Given the description of an element on the screen output the (x, y) to click on. 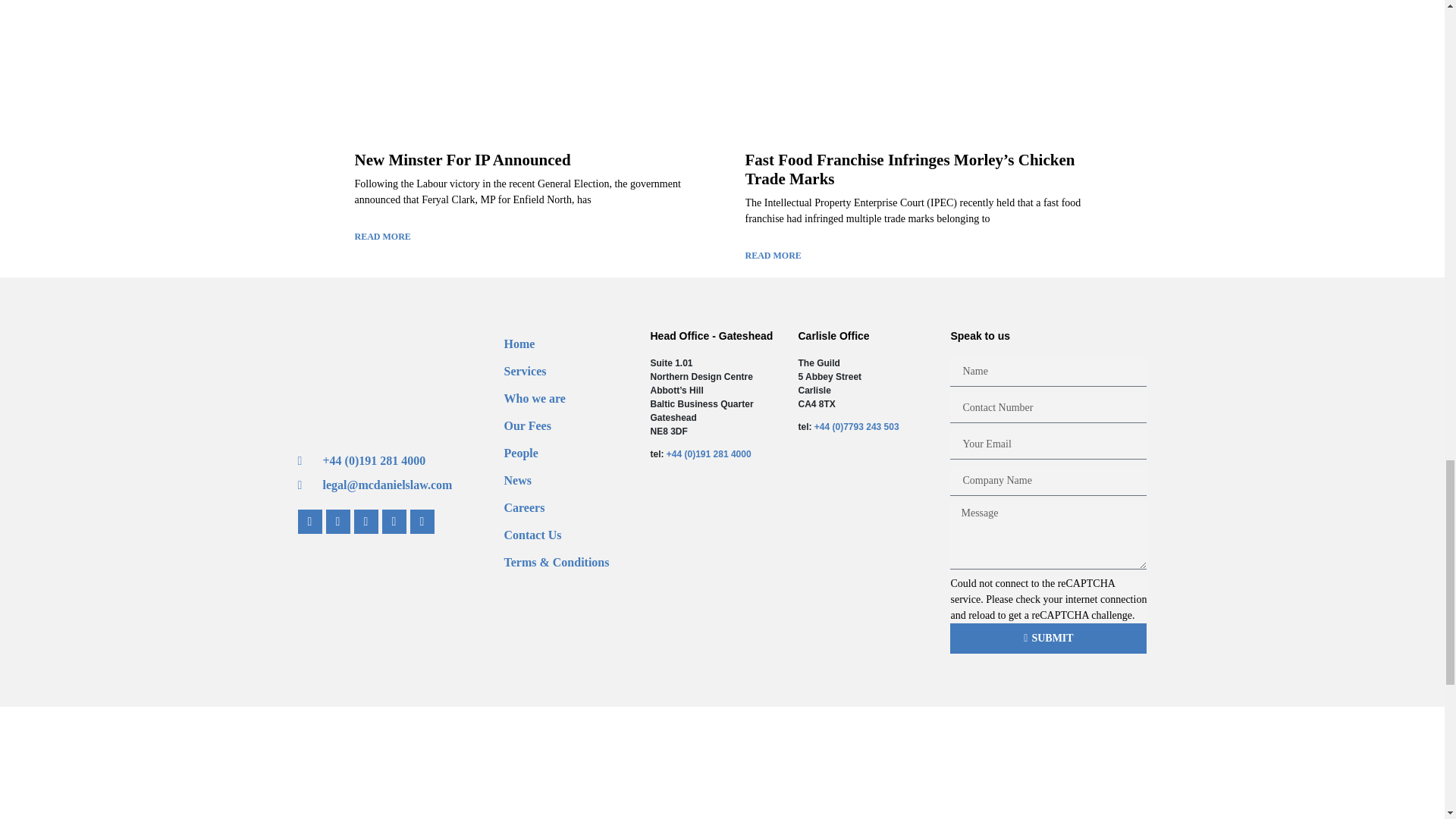
READ MORE (382, 236)
READ MORE (772, 255)
New Minster For IP Announced (462, 158)
